Given the description of an element on the screen output the (x, y) to click on. 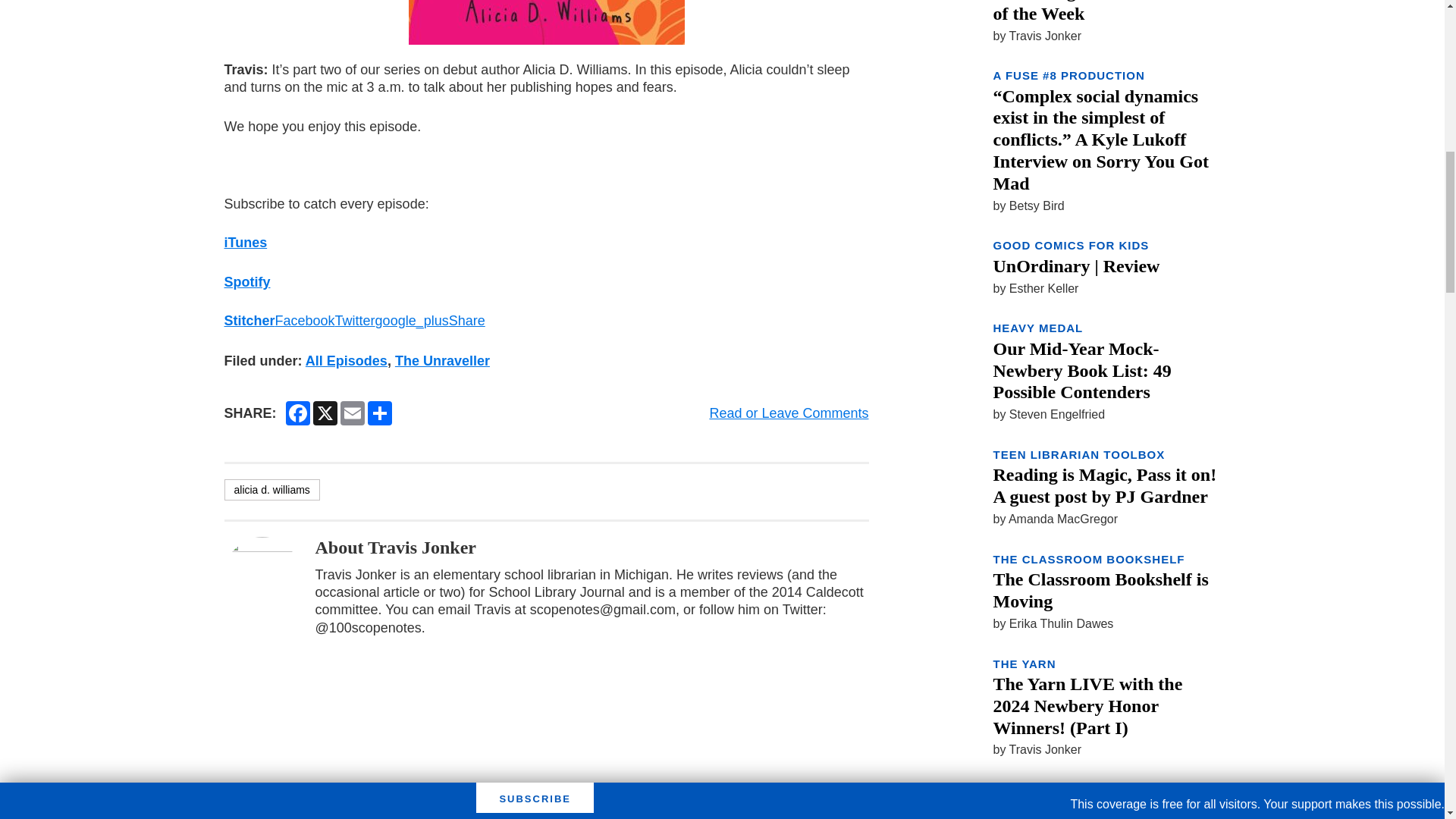
iTunes (245, 242)
3rd party ad content (1106, 814)
Facebook (304, 320)
Spotify (247, 281)
Twitter (354, 320)
Stitcher (249, 320)
